Given the description of an element on the screen output the (x, y) to click on. 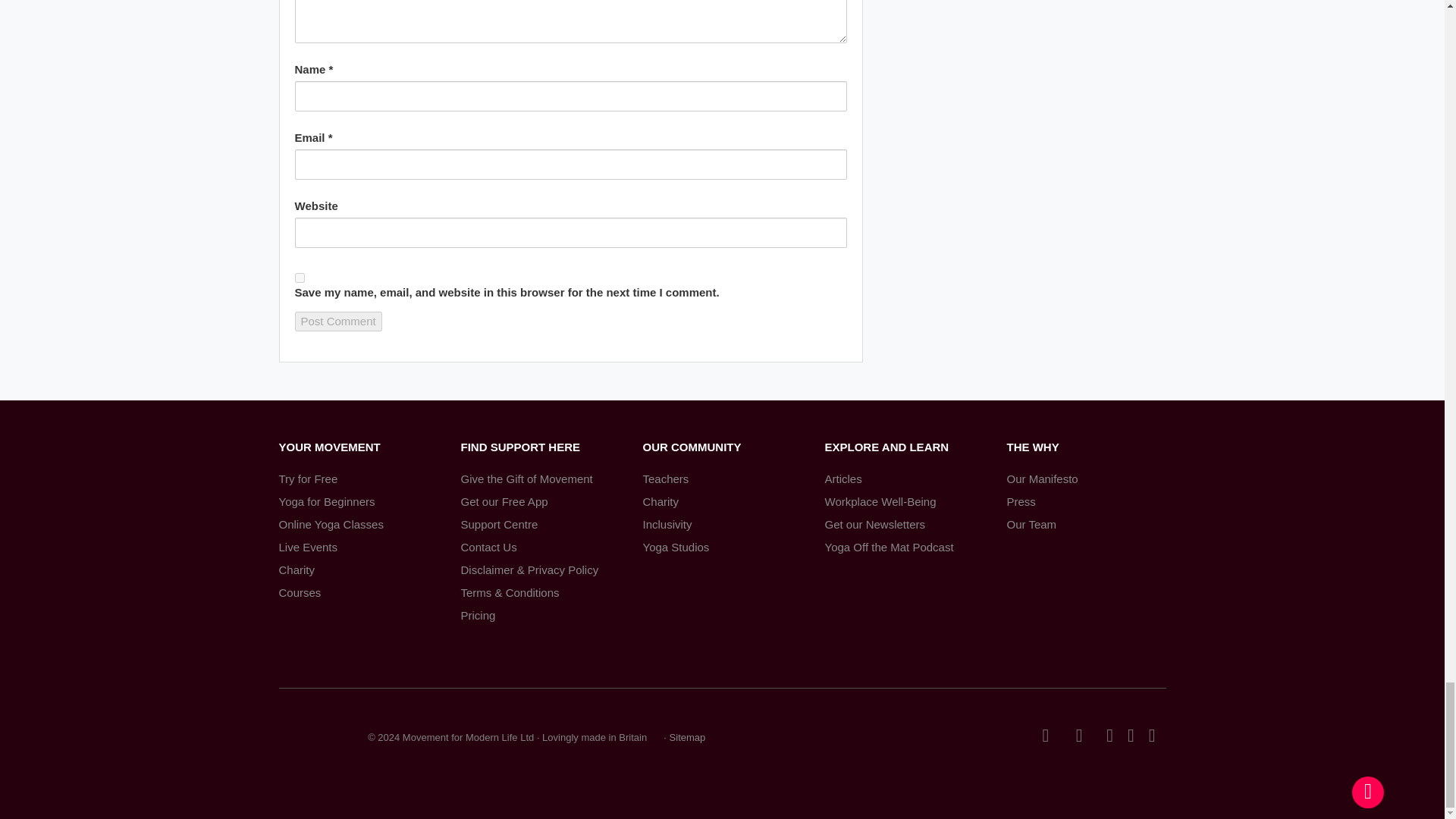
yes (299, 277)
Twitter (1045, 736)
Post Comment (337, 321)
Facebook (1086, 736)
